Given the description of an element on the screen output the (x, y) to click on. 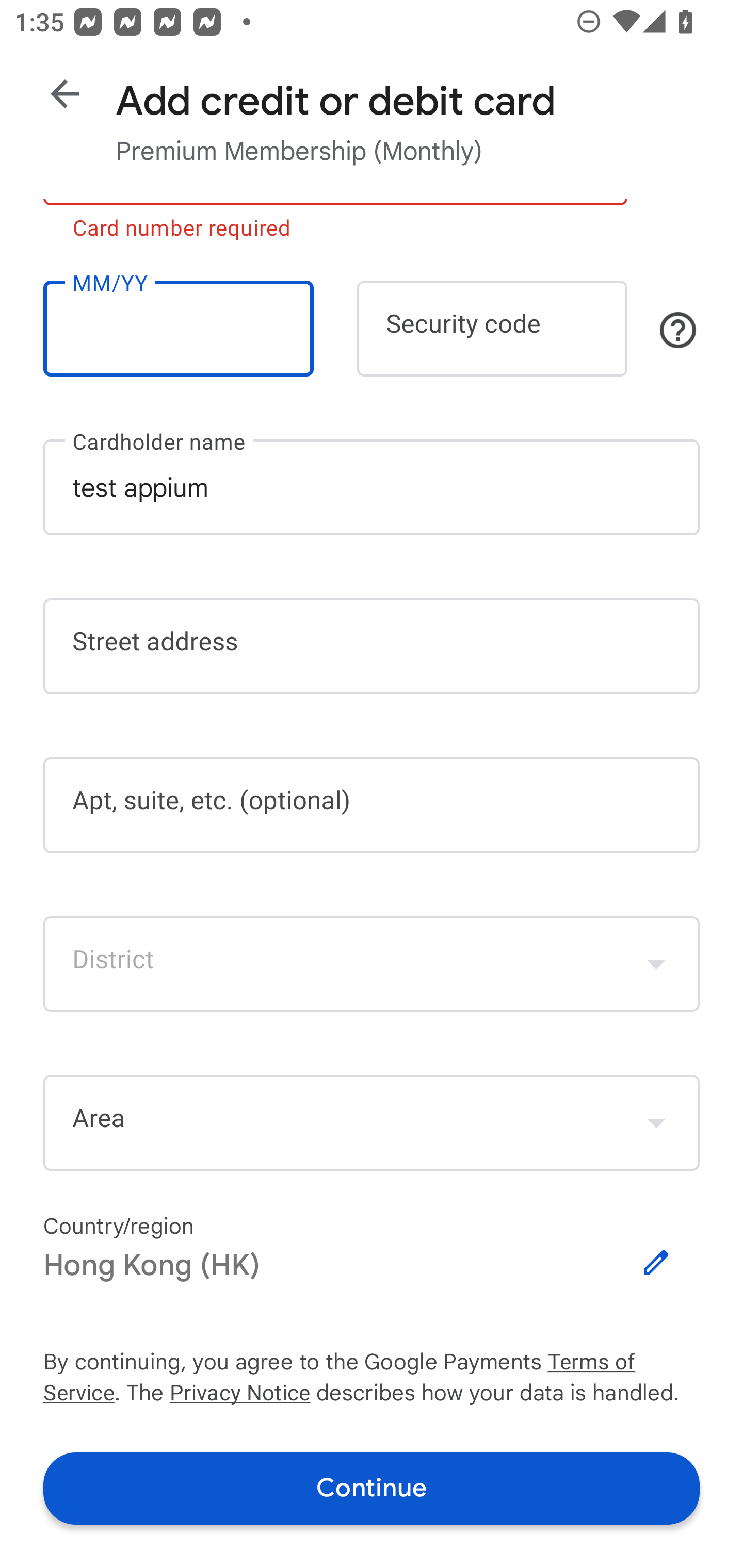
Back (64, 93)
Expiration date, 2 digit month, 2 digit year (178, 328)
Security code (492, 328)
Security code help (677, 329)
test appium (371, 486)
Street address (371, 646)
Apt, suite, etc. (optional) (371, 804)
District (371, 963)
Show dropdown menu (655, 963)
Area (371, 1123)
Show dropdown menu (655, 1122)
country edit button (655, 1262)
Terms of Service (623, 1362)
Privacy Notice (239, 1394)
Continue (371, 1487)
